Given the description of an element on the screen output the (x, y) to click on. 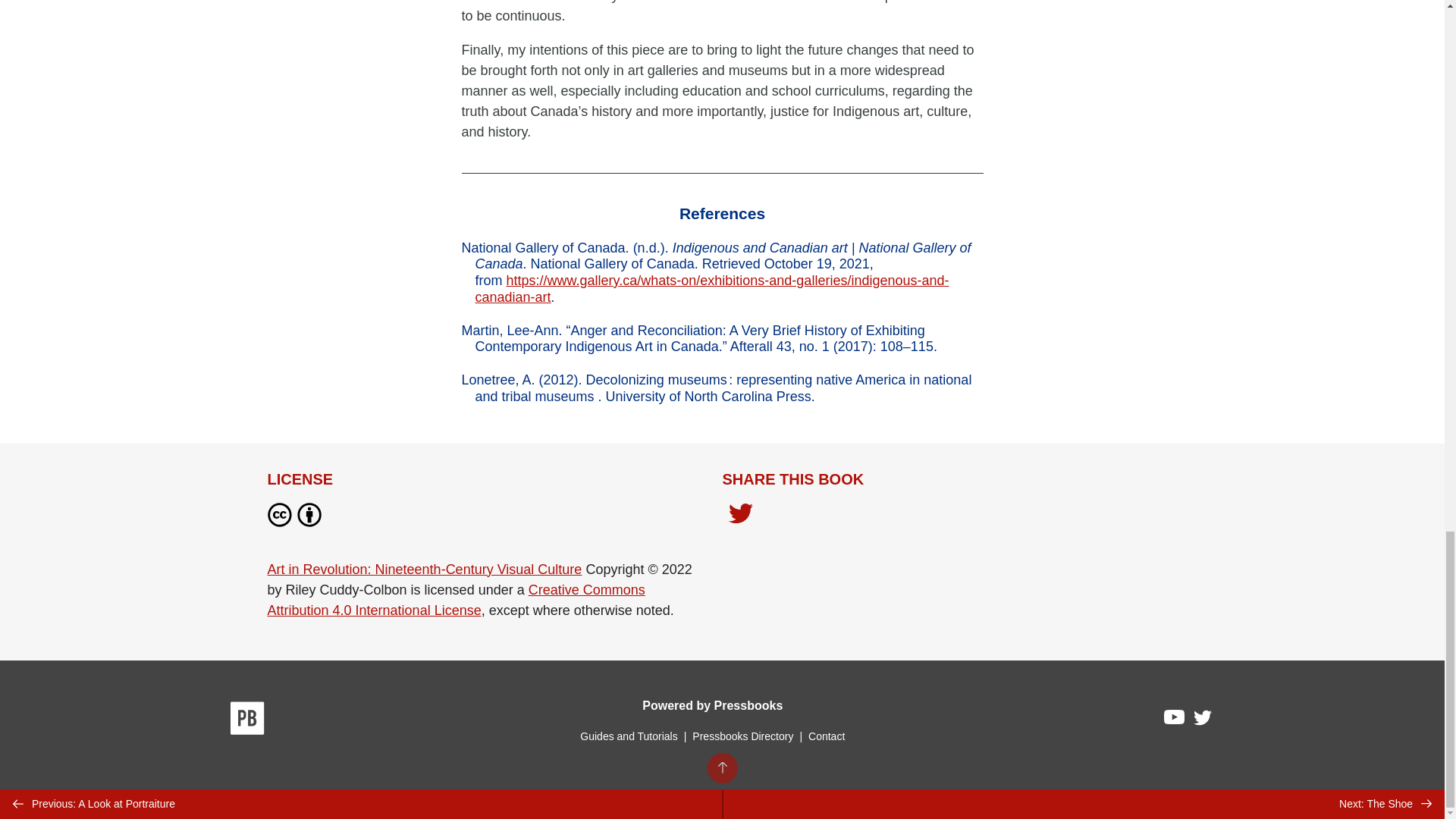
Share on Twitter (740, 517)
Creative Commons Attribution 4.0 International License (455, 600)
Pressbooks Directory (742, 736)
Art in Revolution: Nineteenth-Century Visual Culture (423, 569)
Contact (826, 736)
Powered by Pressbooks (712, 705)
Pressbooks on YouTube (1174, 721)
Share on Twitter (740, 514)
Guides and Tutorials (627, 736)
